Given the description of an element on the screen output the (x, y) to click on. 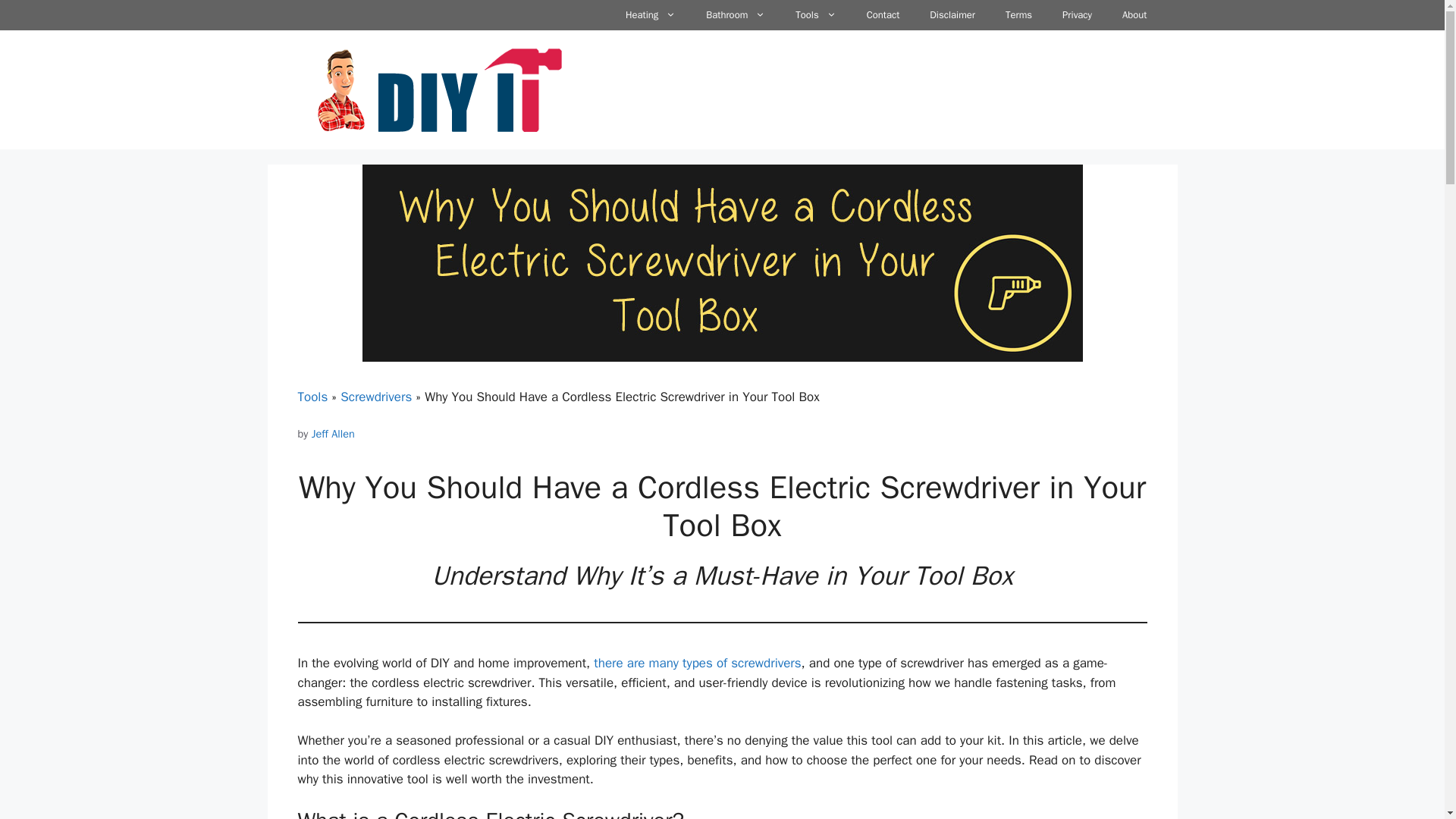
Disclaimer (952, 15)
Tools (312, 396)
Screwdrivers (376, 396)
About (1133, 15)
Tools (815, 15)
Contact (883, 15)
Privacy (1076, 15)
Bathroom (735, 15)
Jeff Allen (333, 433)
there are many types of screwdrivers (697, 662)
Heating (650, 15)
View all posts by Jeff Allen (333, 433)
Terms (1018, 15)
